Given the description of an element on the screen output the (x, y) to click on. 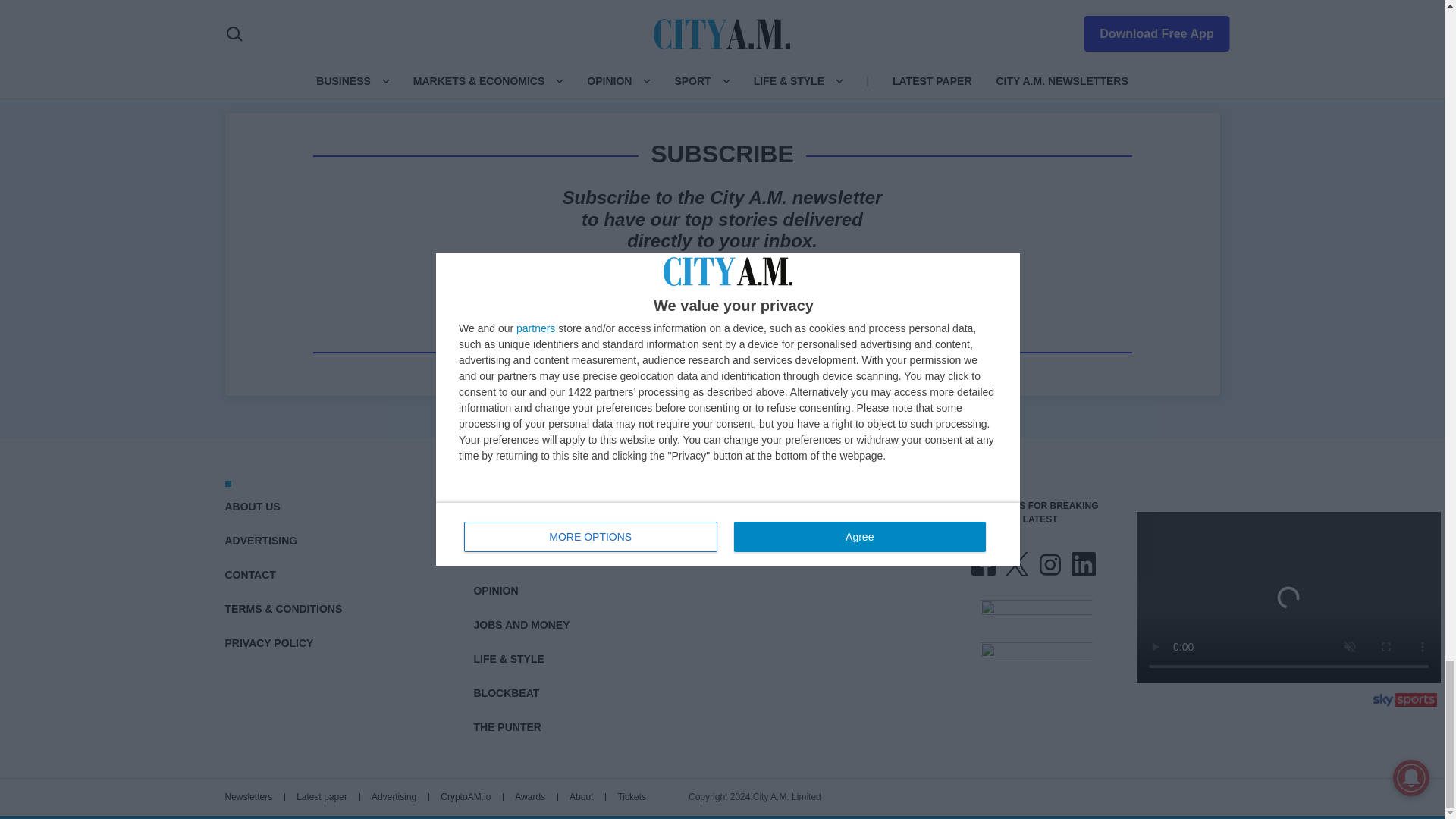
LINKEDIN (1082, 564)
X (1015, 564)
INSTAGRAM (1048, 564)
FACEBOOK (982, 564)
